Given the description of an element on the screen output the (x, y) to click on. 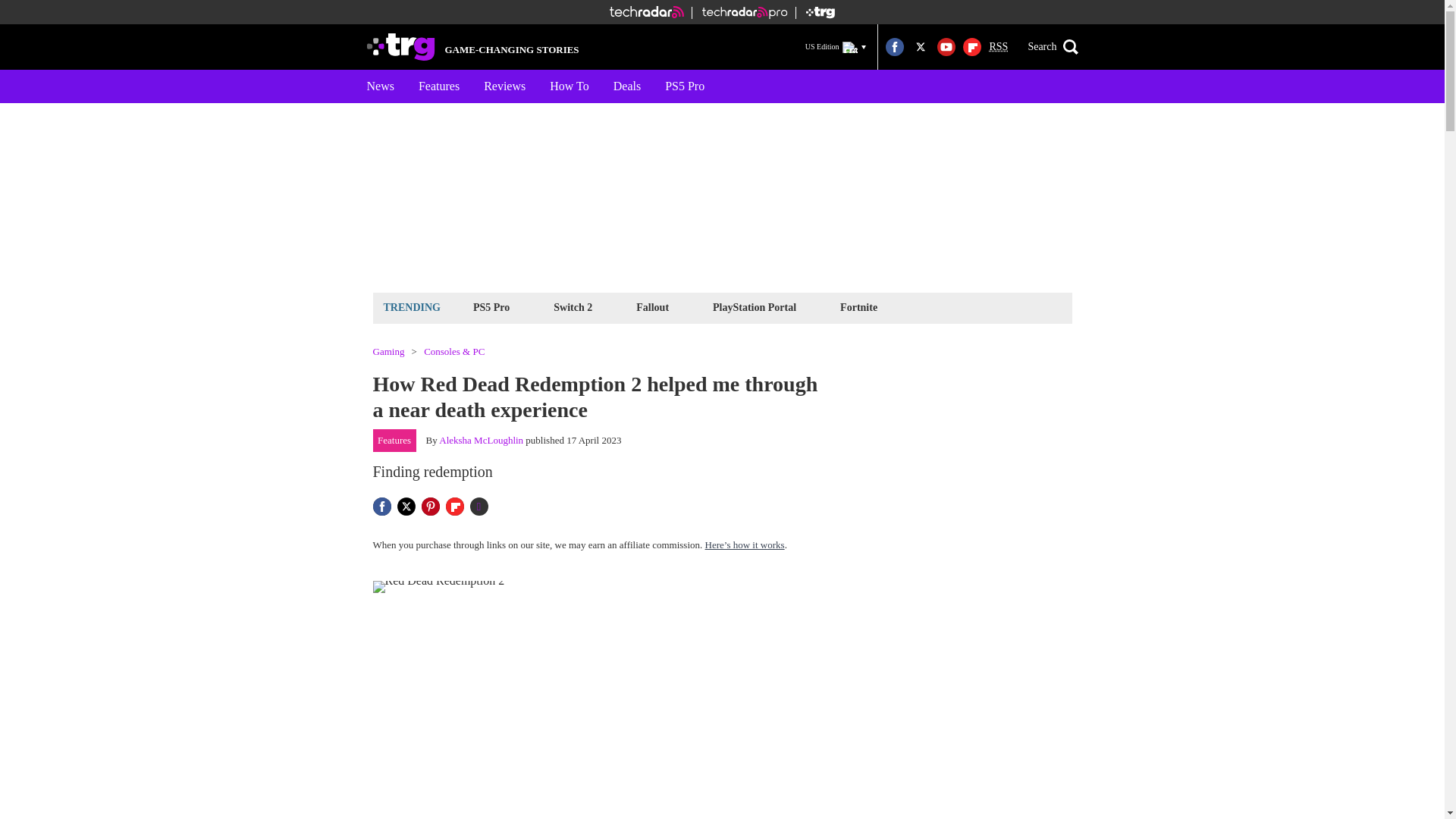
Deals (626, 86)
Fallout (652, 307)
News (380, 86)
How To (568, 86)
PS5 Pro (684, 86)
Switch 2 (572, 307)
GAME-CHANGING STORIES (472, 46)
US Edition (836, 46)
Features (438, 86)
Reviews (504, 86)
